Given the description of an element on the screen output the (x, y) to click on. 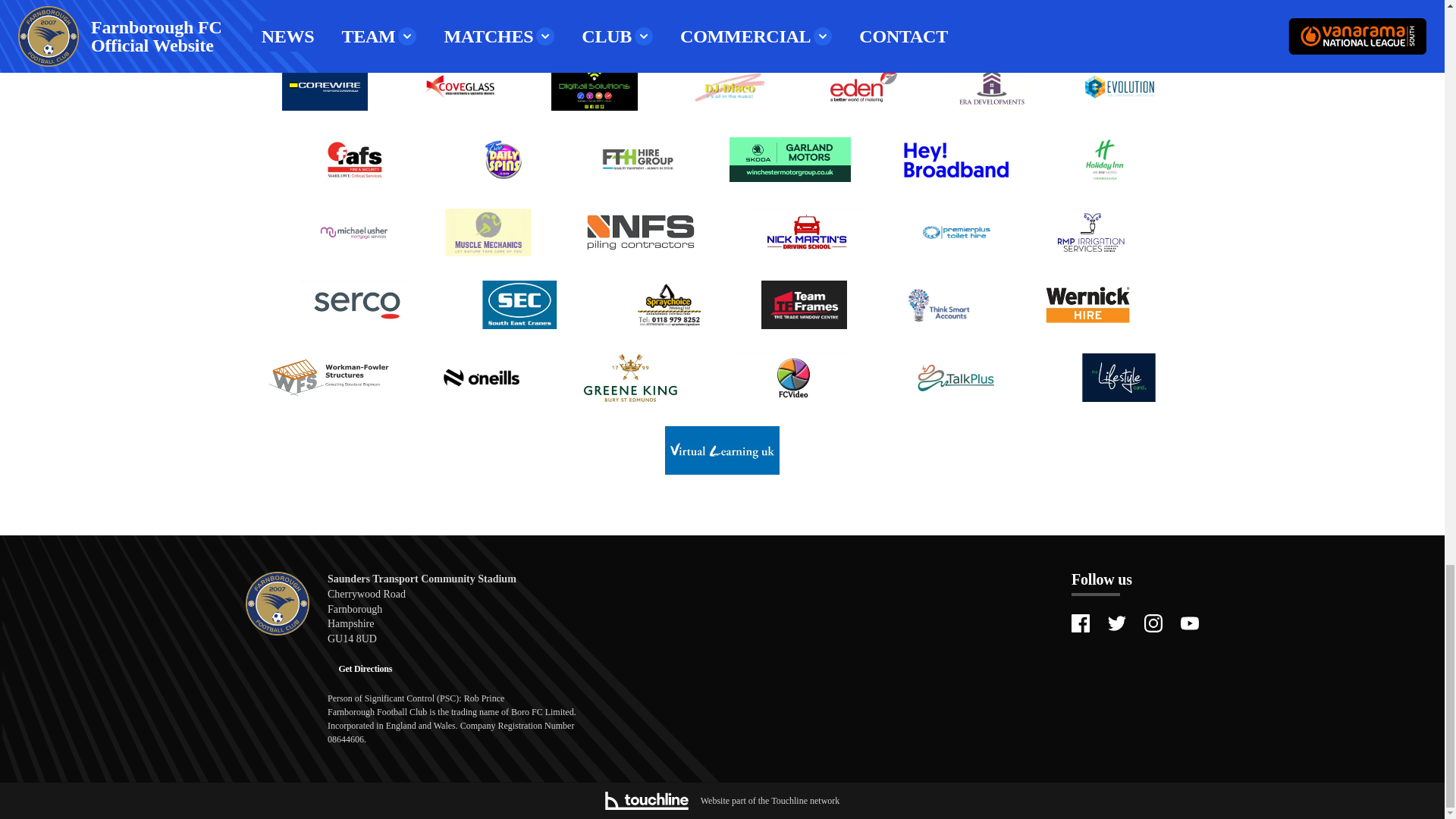
Find us on YouTube (1189, 623)
Find us on Facebook (1080, 623)
Find us on Twitter (1116, 623)
Find us on Instagram (1152, 623)
